Given the description of an element on the screen output the (x, y) to click on. 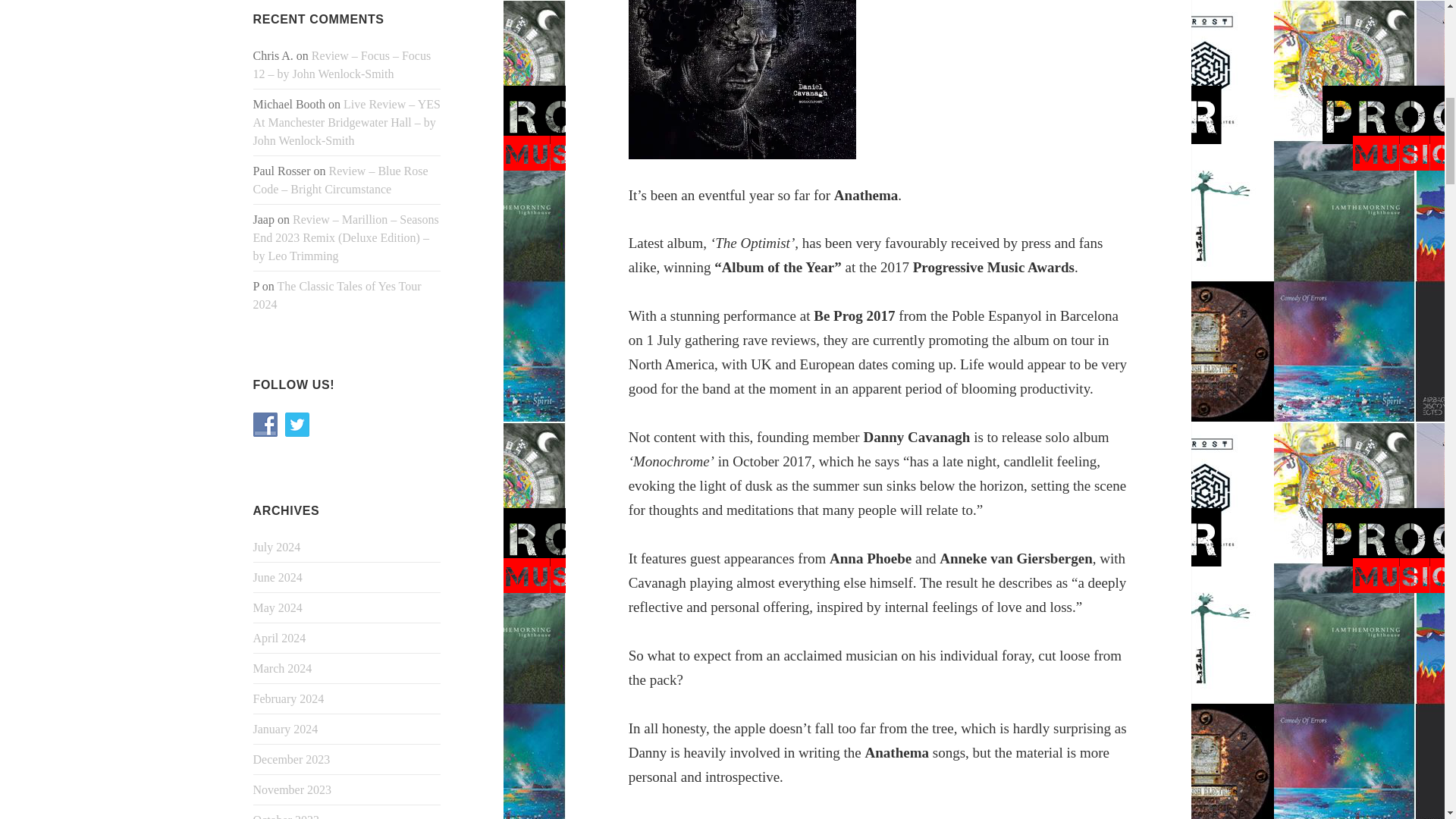
January 2024 (285, 728)
July 2024 (277, 546)
March 2024 (283, 667)
Facebook Progradar (265, 424)
November 2023 (292, 789)
Twitter DTVoicesUK (296, 424)
The Classic Tales of Yes Tour 2024 (337, 295)
October 2023 (286, 816)
May 2024 (277, 607)
April 2024 (279, 637)
February 2024 (288, 698)
December 2023 (291, 758)
June 2024 (277, 576)
